Given the description of an element on the screen output the (x, y) to click on. 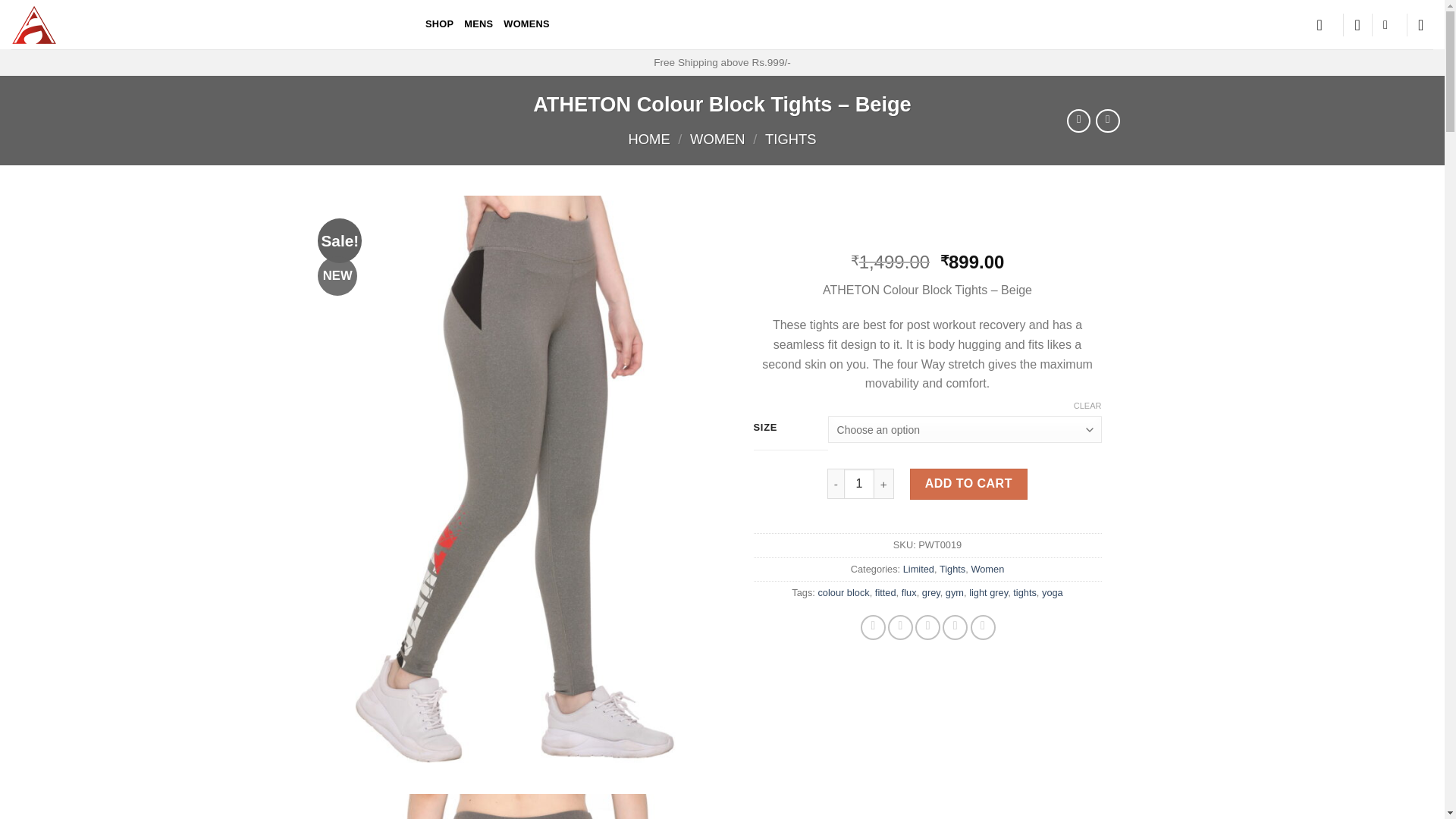
1 (859, 484)
Tights (951, 568)
0V1A0327 (517, 806)
TIGHTS (790, 139)
Women (987, 568)
WOMEN (717, 139)
HOME (648, 139)
CLEAR (1086, 405)
Qty (859, 484)
Atheton - Promoting fitness (207, 24)
WOMENS (526, 24)
Limited (917, 568)
SHOP (438, 24)
MENS (478, 24)
ADD TO CART (967, 484)
